Given the description of an element on the screen output the (x, y) to click on. 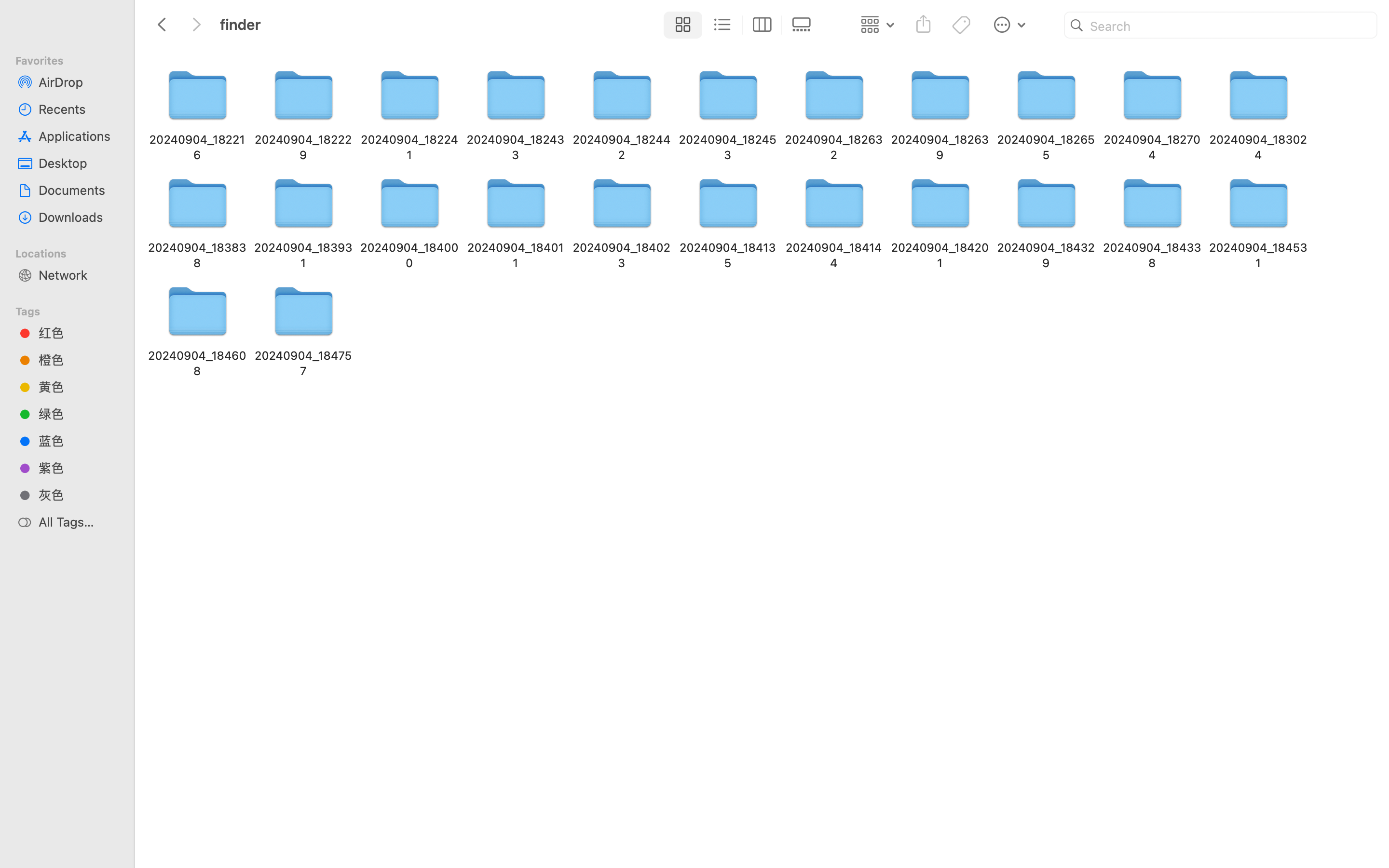
Tags Element type: AXStaticText (72, 309)
蓝色 Element type: AXStaticText (77, 440)
1 Element type: AXRadioButton (680, 24)
Locations Element type: AXStaticText (72, 252)
Downloads Element type: AXStaticText (77, 216)
